Given the description of an element on the screen output the (x, y) to click on. 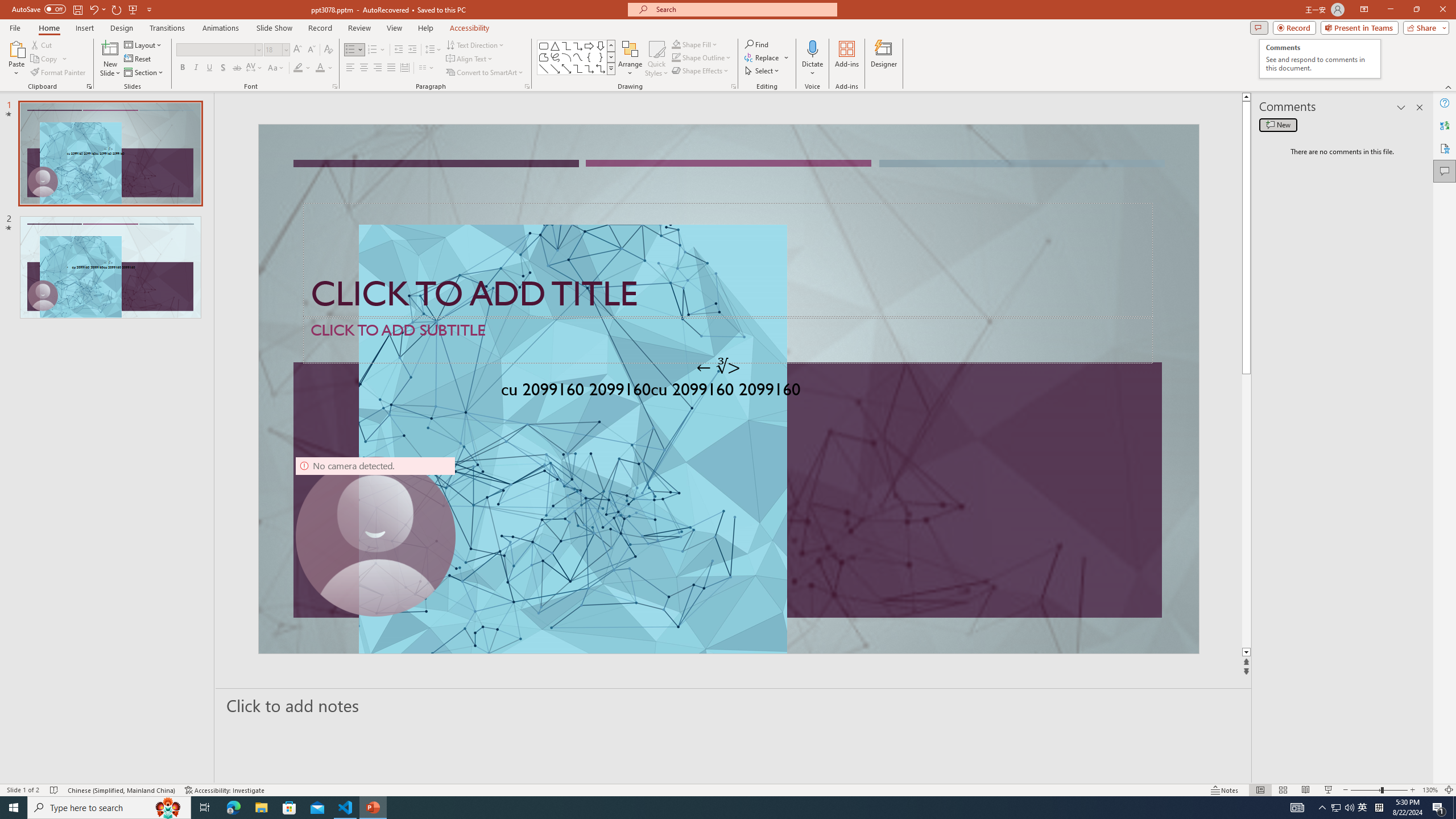
Camera 9, No camera detected. (374, 536)
